Given the description of an element on the screen output the (x, y) to click on. 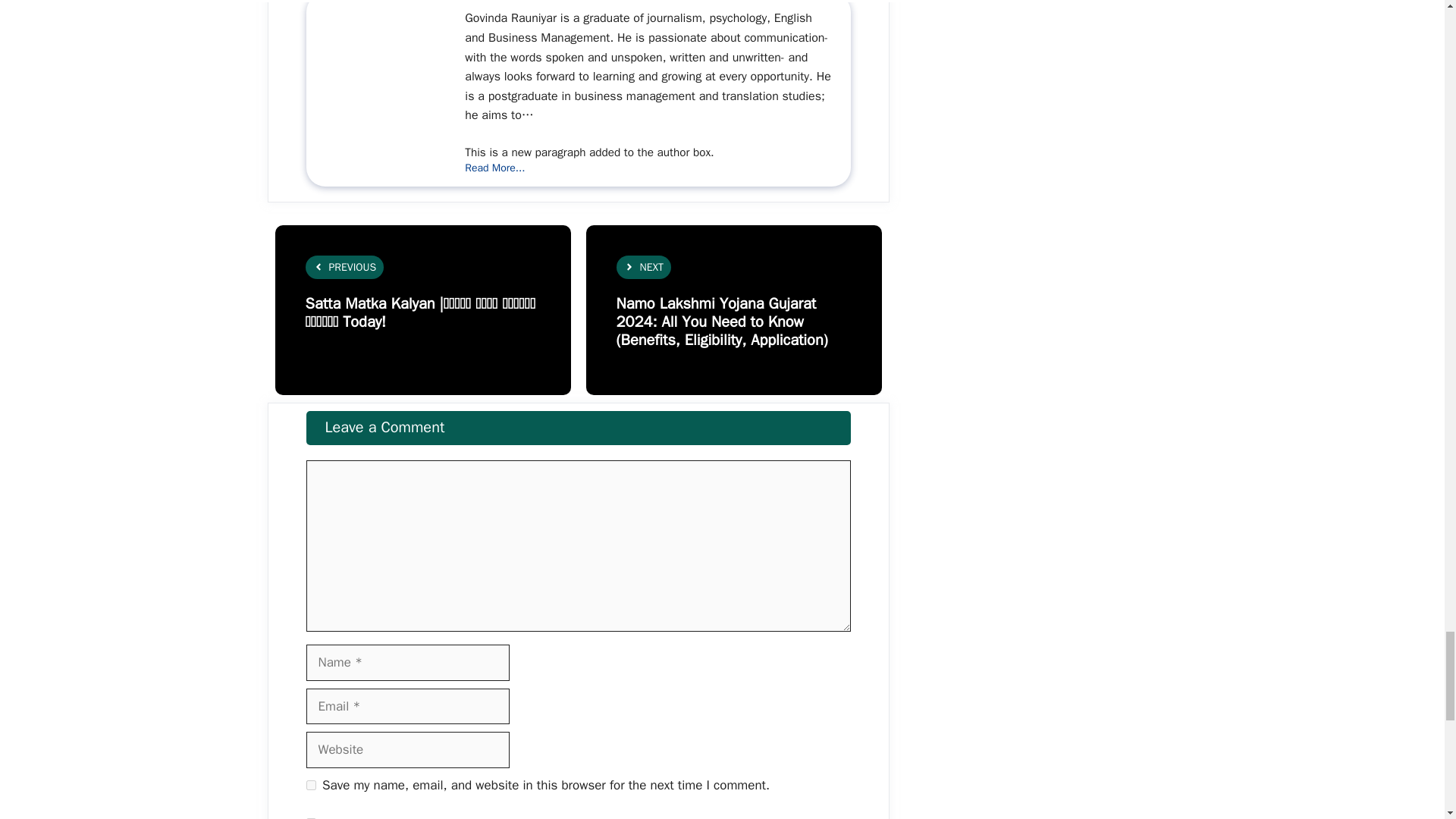
yes (310, 785)
Read More... (494, 168)
